Given the description of an element on the screen output the (x, y) to click on. 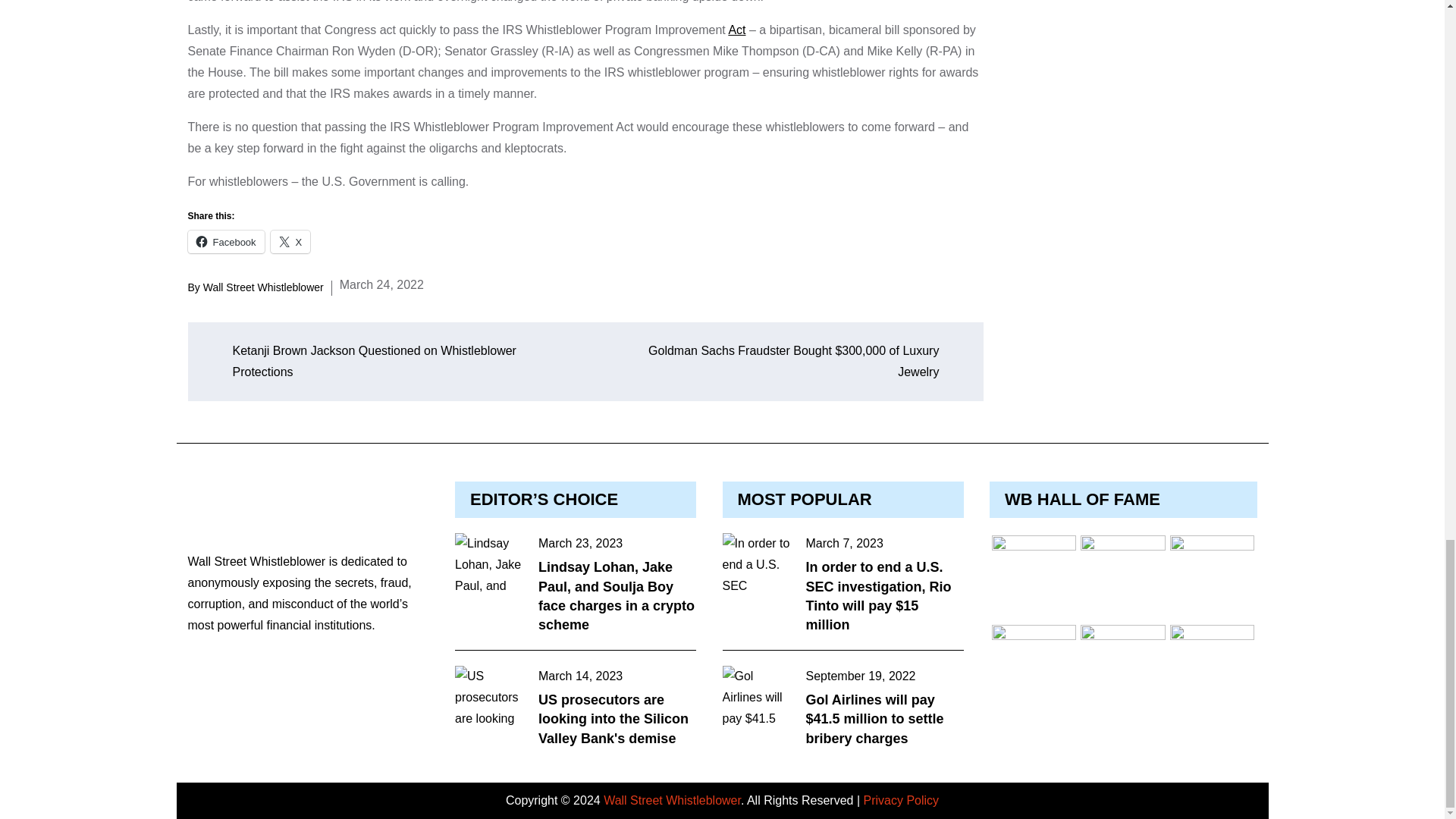
Click to share on Facebook (225, 241)
Click to share on X (290, 241)
X (290, 241)
Facebook (225, 241)
March 23, 2023 (580, 543)
March 24, 2022 (381, 284)
Wall Street Whistleblower (263, 287)
Act (736, 29)
